Given the description of an element on the screen output the (x, y) to click on. 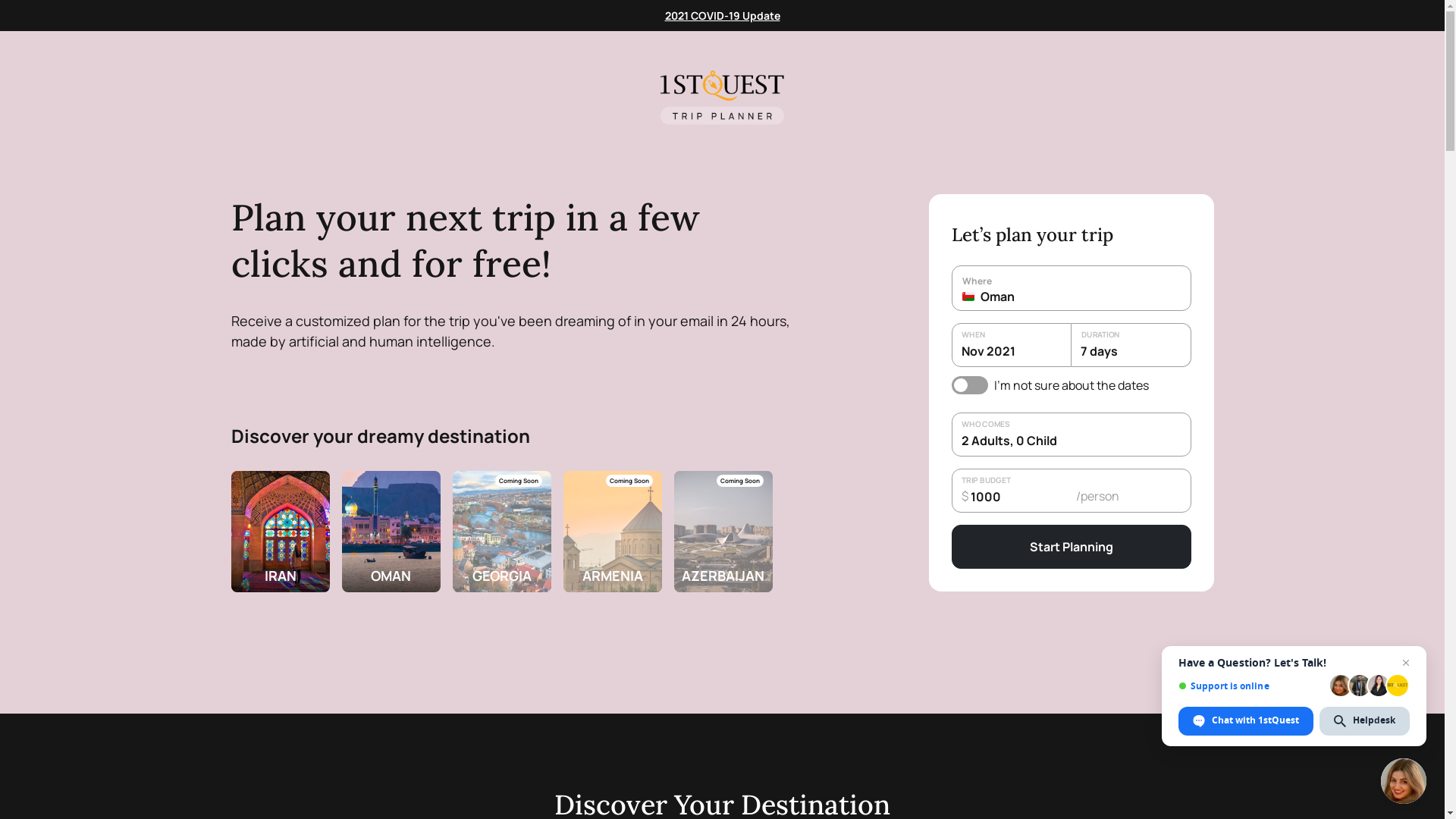
Start Planning Element type: text (1070, 546)
